Given the description of an element on the screen output the (x, y) to click on. 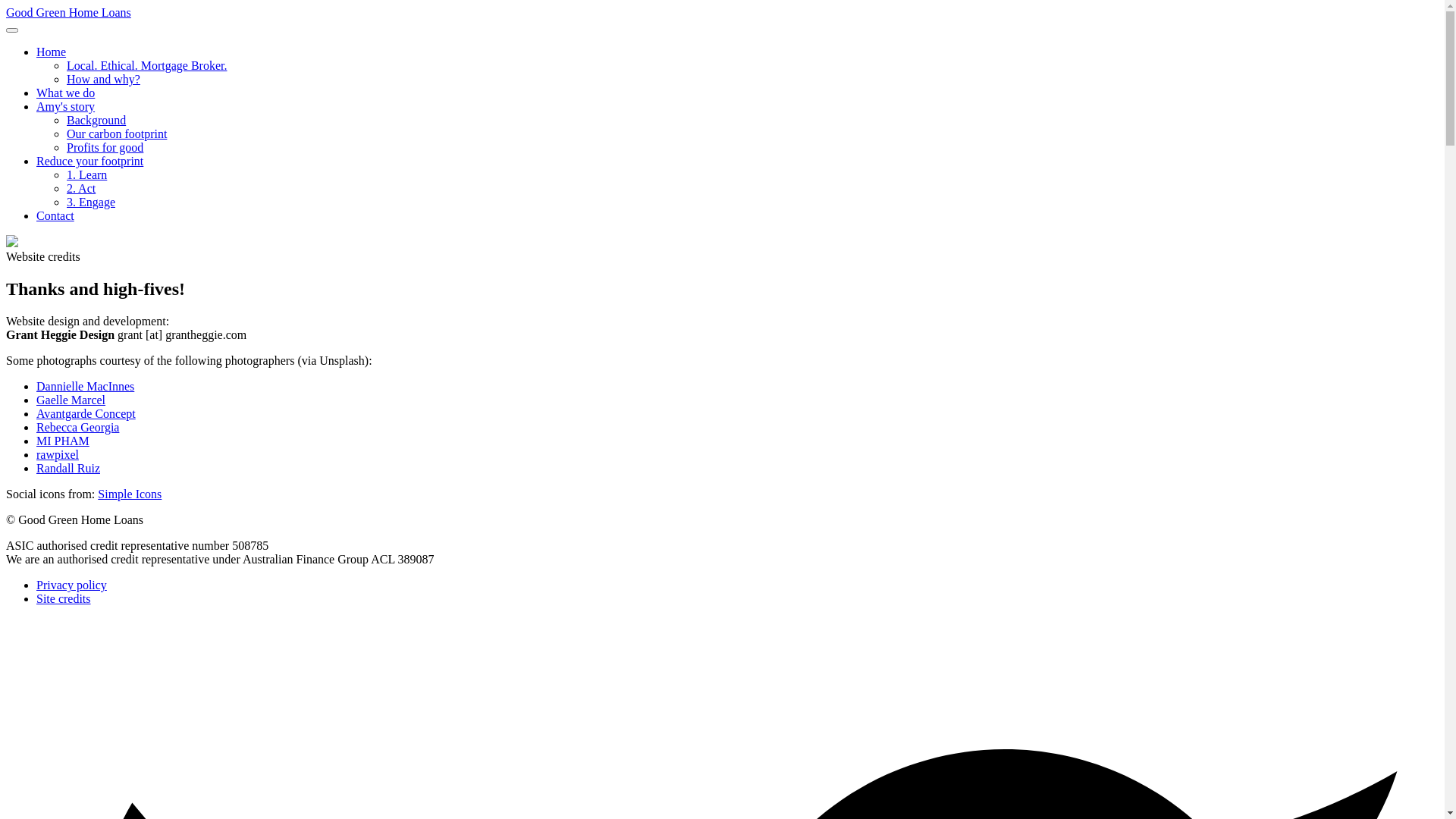
MI PHAM Element type: text (62, 440)
Gaelle Marcel Element type: text (70, 399)
Background Element type: text (95, 119)
Open/close navigation Element type: hover (12, 30)
Our carbon footprint Element type: text (116, 133)
Site credits Element type: text (63, 598)
Amy's story Element type: text (65, 106)
Profits for good Element type: text (104, 147)
Contact Element type: text (55, 215)
Reduce your footprint Element type: text (89, 160)
Simple Icons Element type: text (129, 493)
What we do Element type: text (65, 92)
Good Green Home Loans Element type: text (68, 12)
Home Element type: text (50, 51)
Local. Ethical. Mortgage Broker. Element type: text (146, 65)
2. Act Element type: text (80, 188)
Randall Ruiz Element type: text (68, 467)
How and why? Element type: text (103, 78)
Avantgarde Concept Element type: text (85, 413)
1. Learn Element type: text (86, 174)
Rebecca Georgia Element type: text (77, 426)
Dannielle MacInnes Element type: text (85, 385)
Privacy policy Element type: text (71, 584)
3. Engage Element type: text (90, 201)
rawpixel Element type: text (57, 454)
